Given the description of an element on the screen output the (x, y) to click on. 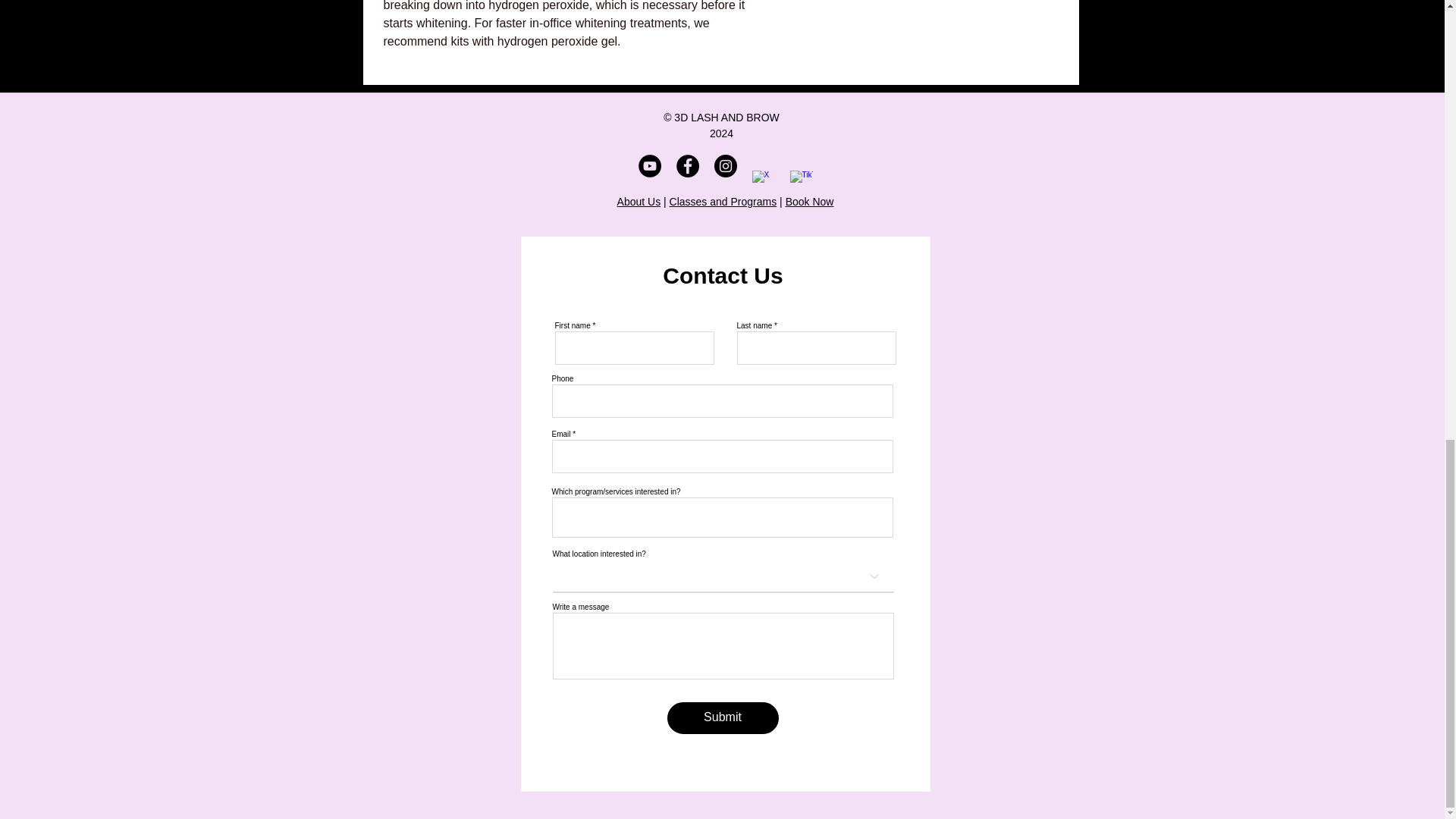
Classes and Programs (723, 201)
Submit (722, 717)
Book Now (810, 201)
About Us (639, 201)
